Given the description of an element on the screen output the (x, y) to click on. 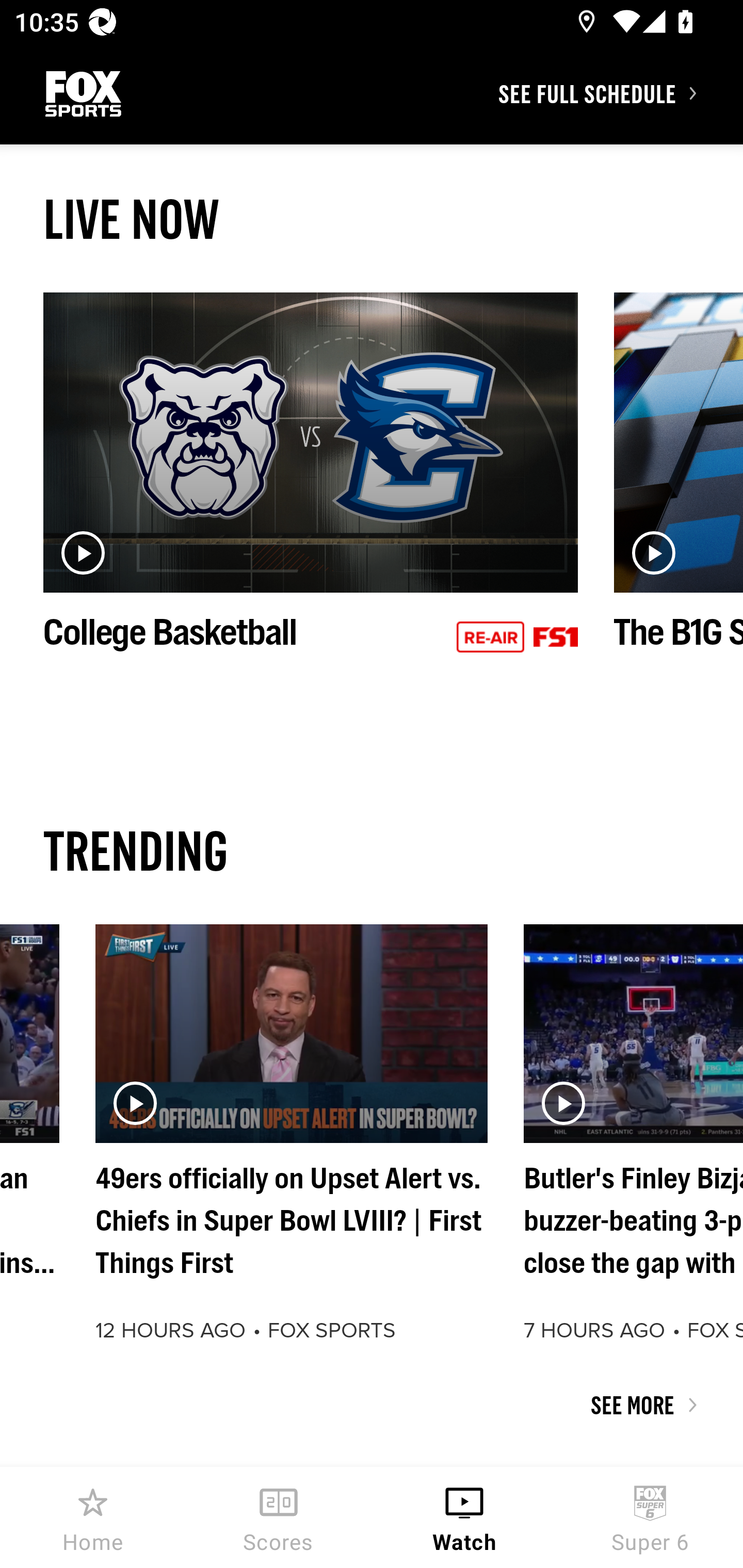
SEE FULL SCHEDULE (620, 93)
LIVE NOW (371, 218)
College Basketball (310, 494)
TRENDING (371, 850)
SEE MORE (371, 1404)
Home (92, 1517)
Scores (278, 1517)
Super 6 (650, 1517)
